Given the description of an element on the screen output the (x, y) to click on. 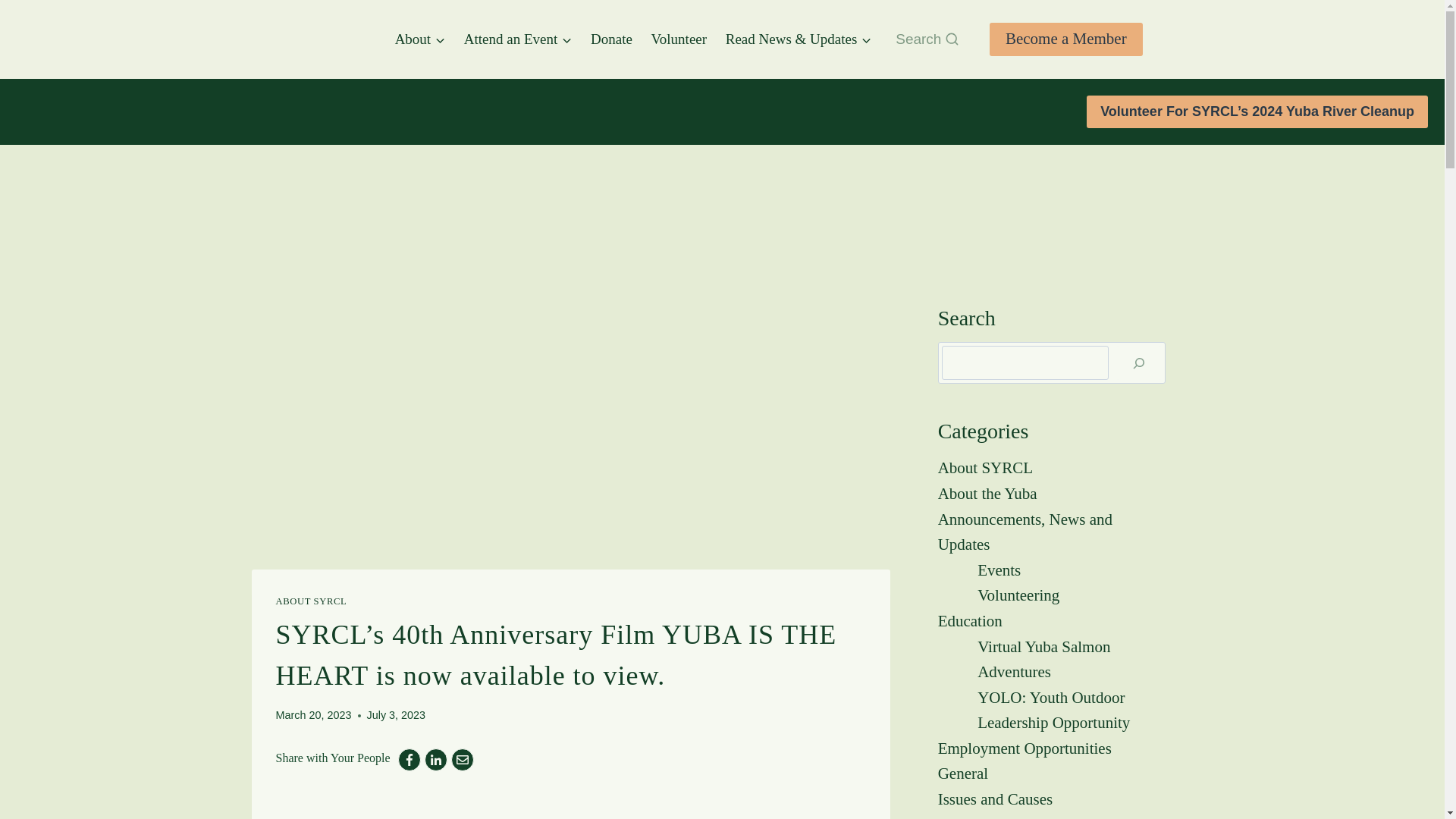
About (419, 38)
Become a Member (1066, 39)
Volunteer (679, 38)
Donate (611, 38)
Attend an Event (517, 38)
Search (927, 38)
ABOUT SYRCL (311, 601)
